Given the description of an element on the screen output the (x, y) to click on. 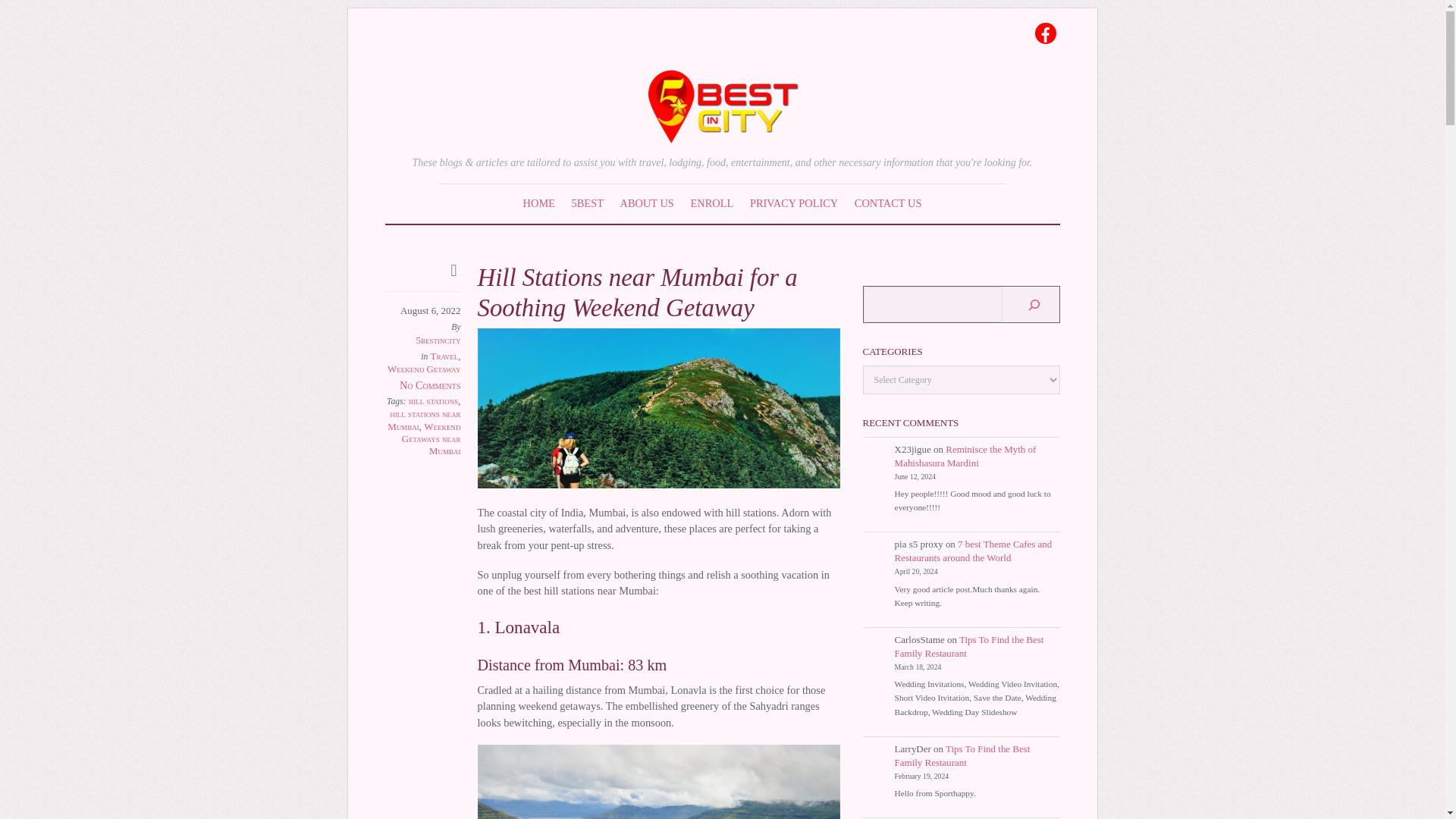
Travel (444, 355)
Tips To Find the Best Family Restaurant (962, 755)
5Best In City (721, 134)
Weekend Getaway (424, 368)
No Comments (429, 385)
Hill Stations near Mumbai for a Soothing Weekend Getaway (637, 292)
PRIVACY POLICY (793, 202)
ENROLL (712, 202)
Tips To Find the Best Family Restaurant (969, 646)
hill-stations-near-Mumbai (658, 408)
Weekend Getaways near Mumbai (431, 438)
HOME (539, 202)
ABOUT US (646, 202)
7 best Theme Cafes and Restaurants around the World (973, 550)
hill stations near Mumbai (423, 419)
